Given the description of an element on the screen output the (x, y) to click on. 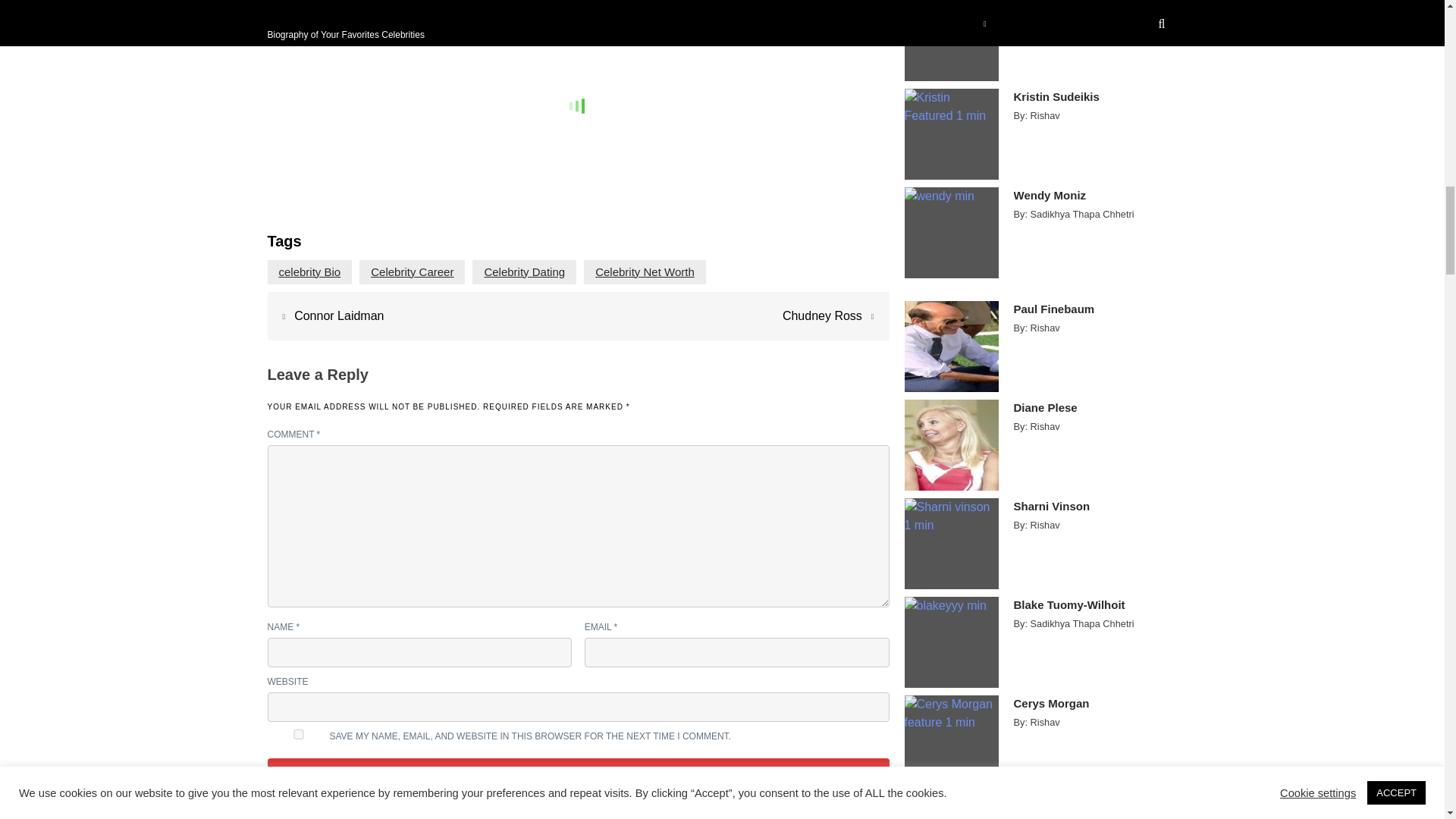
yes (297, 734)
Chudney Ross (822, 315)
Celebrity Career (411, 271)
Celebrity Dating (523, 271)
Celebrity Net Worth (644, 271)
Connor Laidman (339, 315)
Post Comment (577, 774)
celebrity Bio (309, 271)
Post Comment (577, 774)
